Given the description of an element on the screen output the (x, y) to click on. 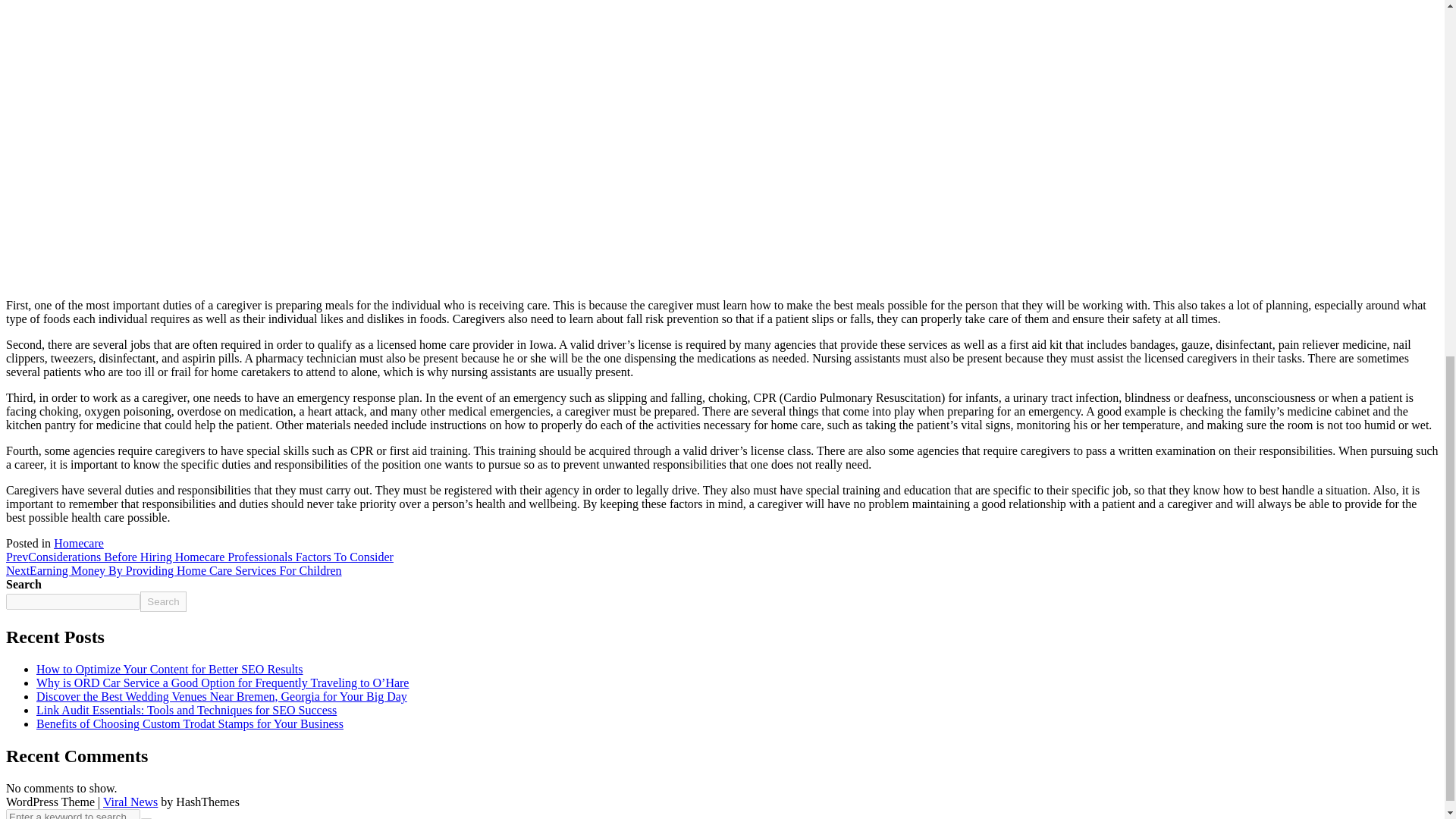
How to Optimize Your Content for Better SEO Results (169, 668)
Link Audit Essentials: Tools and Techniques for SEO Success (186, 709)
Viral News (130, 800)
Search (162, 601)
Download Viral News (130, 800)
Homecare (78, 543)
Benefits of Choosing Custom Trodat Stamps for Your Business (189, 723)
